Given the description of an element on the screen output the (x, y) to click on. 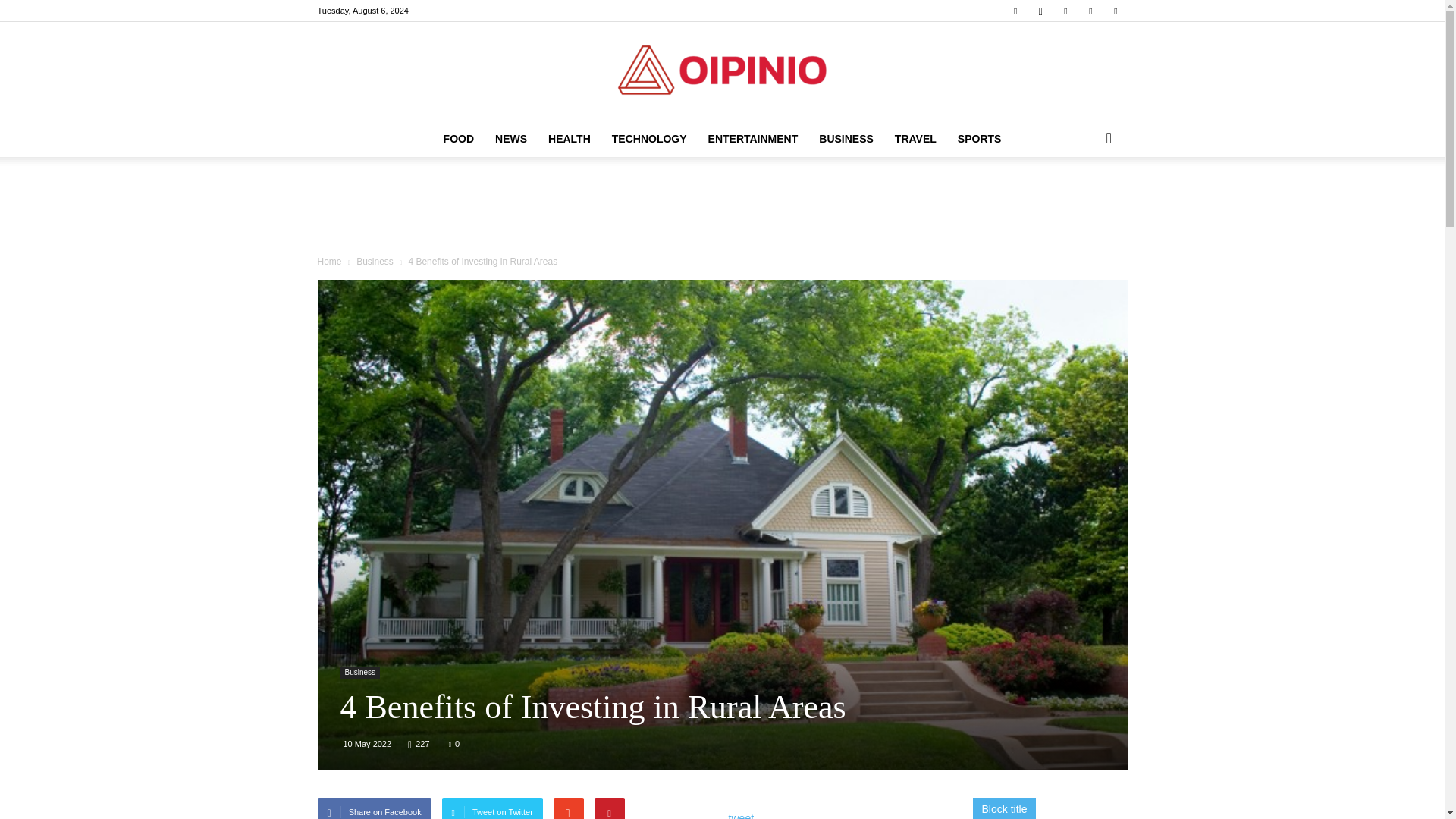
0 (454, 743)
View all posts in Business (374, 261)
SPORTS (979, 138)
Business (359, 672)
TRAVEL (915, 138)
Advertisement (721, 209)
Facebook (1015, 10)
BUSINESS (845, 138)
FOOD (458, 138)
Business (374, 261)
